Given the description of an element on the screen output the (x, y) to click on. 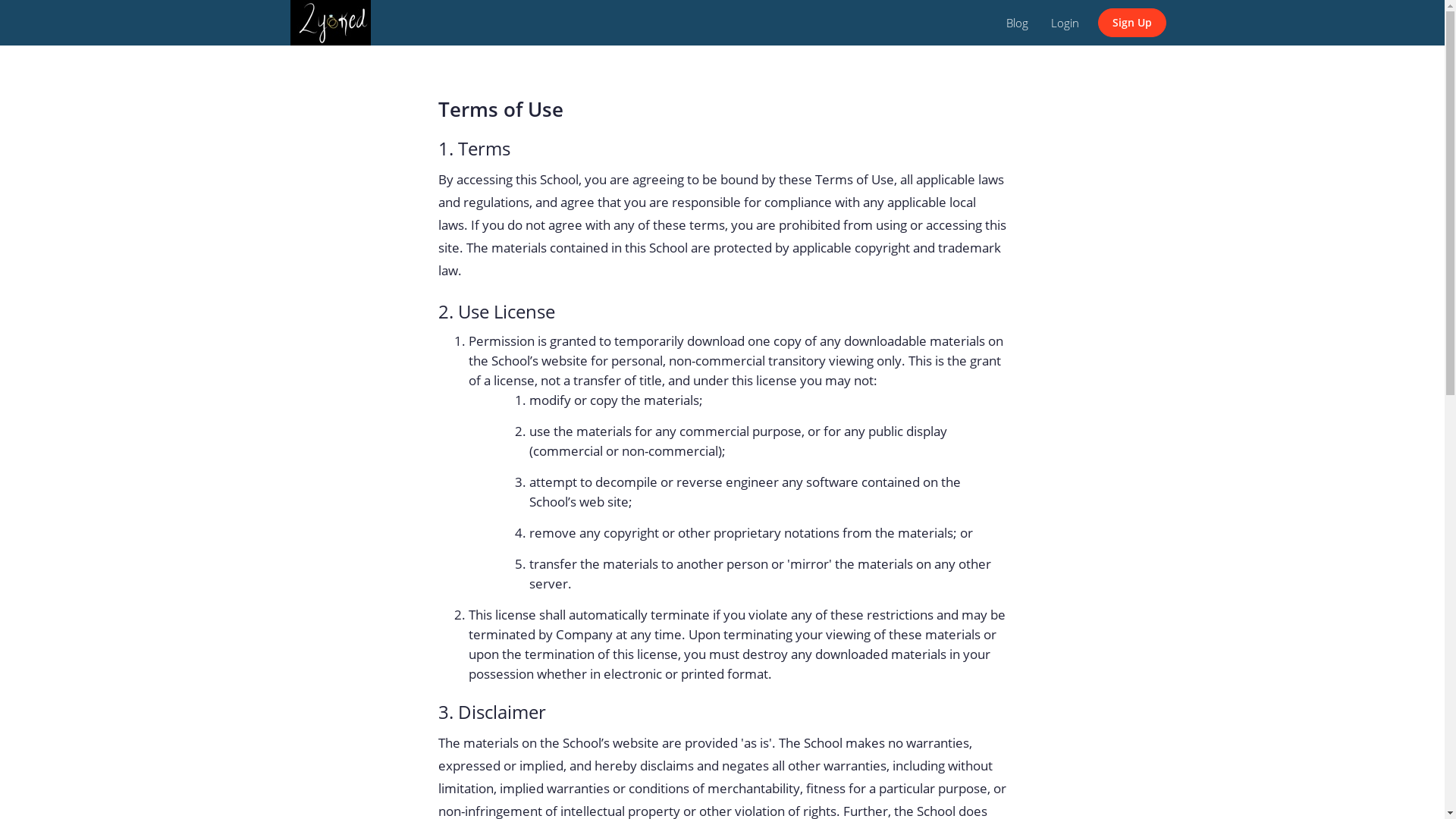
Blog Element type: text (1016, 22)
Login Element type: text (1063, 22)
Sign Up Element type: text (1132, 22)
